Given the description of an element on the screen output the (x, y) to click on. 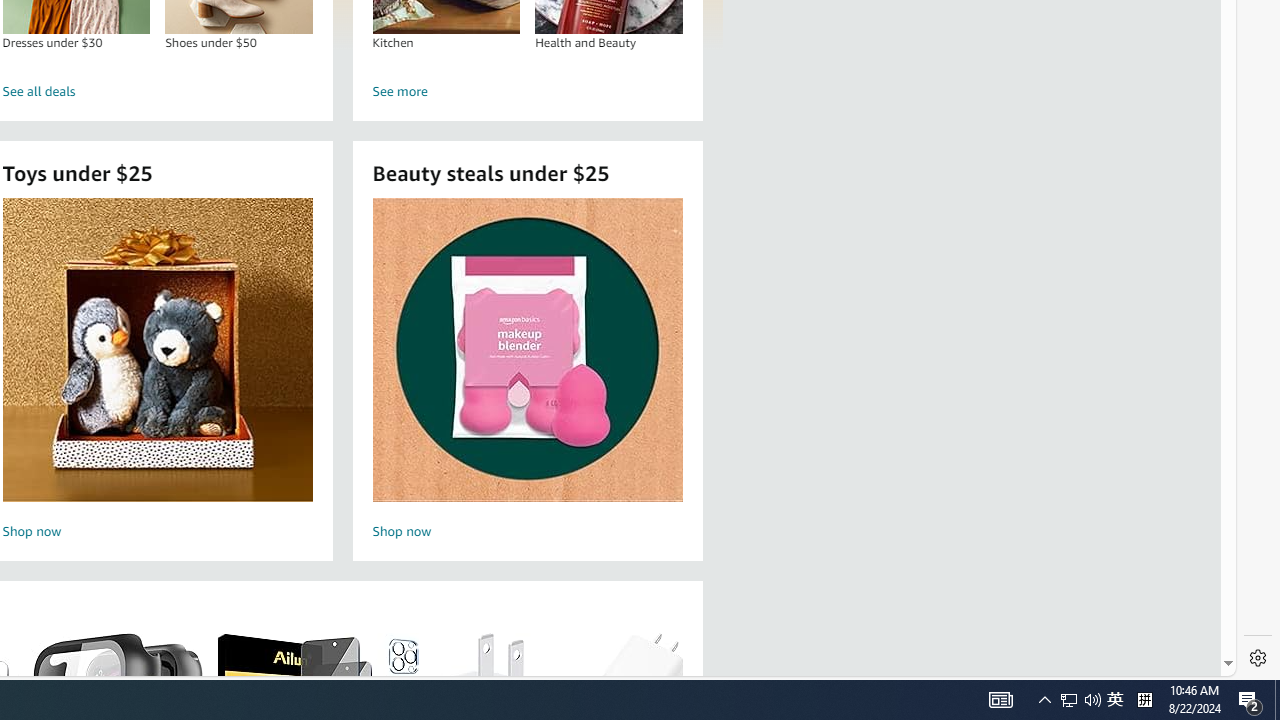
Beauty steals under $25 (526, 349)
See all deals (157, 92)
Beauty steals under $25 Shop now (527, 371)
